Given the description of an element on the screen output the (x, y) to click on. 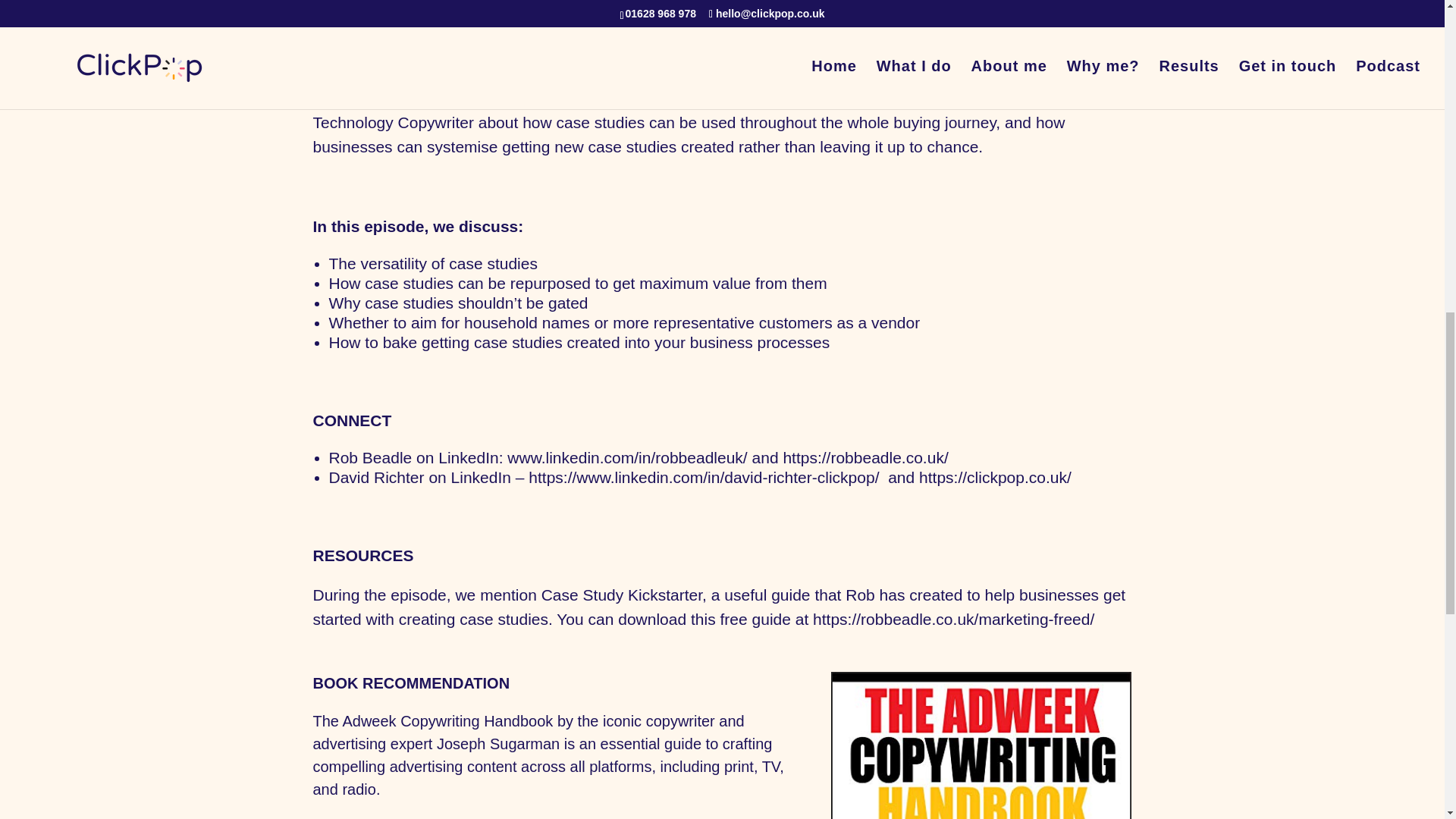
JoSugar (981, 745)
